Given the description of an element on the screen output the (x, y) to click on. 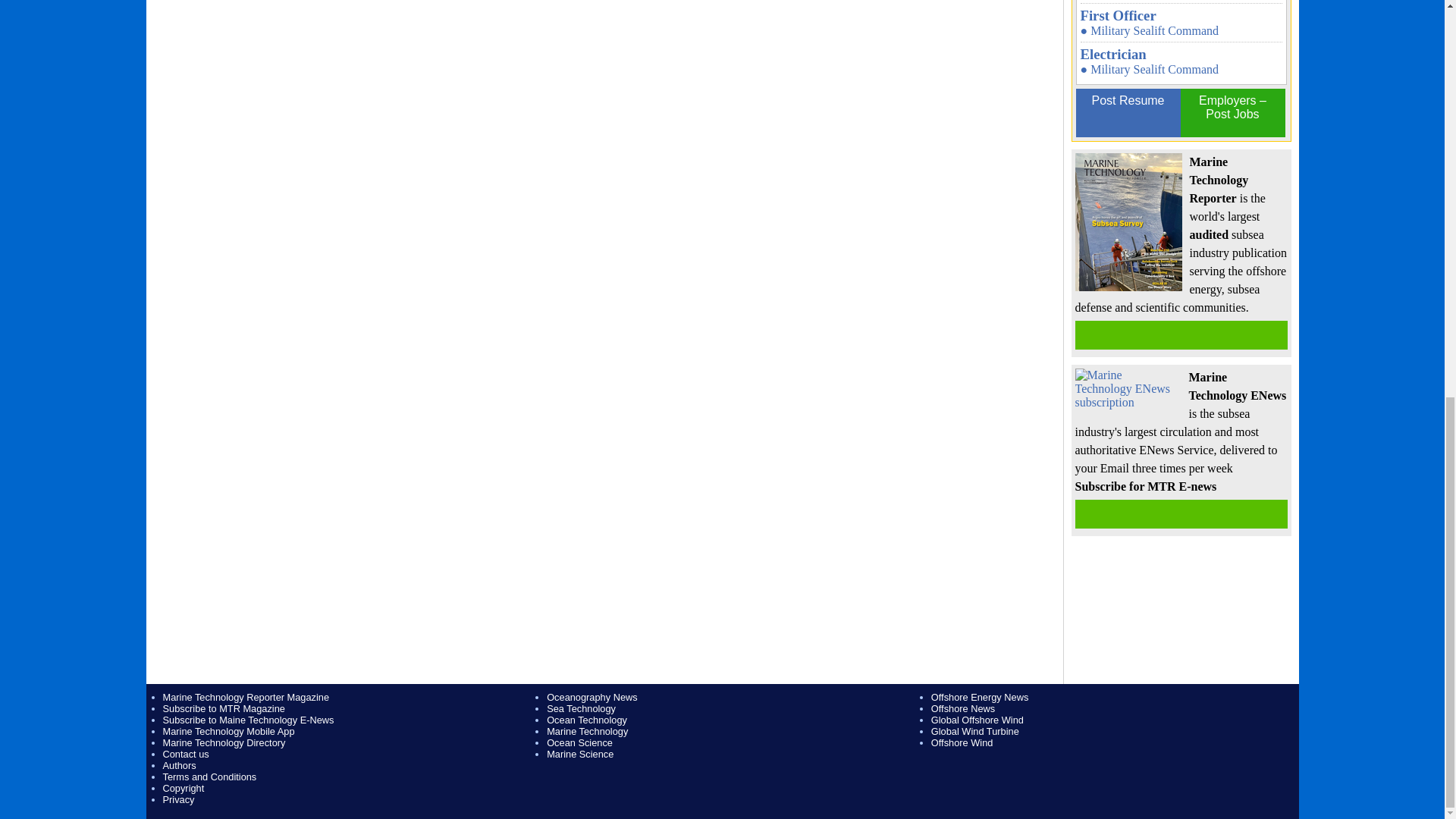
Offshore News (962, 708)
Marine Technology Directory (223, 742)
Subscribe (1181, 513)
Terms and Conditions (208, 776)
Marine Technology Mobile App (227, 731)
Subscribe (1181, 513)
Marine Technology Directory (223, 742)
Marine Technology Reporter magazine subscription (1181, 335)
Subscribe (1181, 335)
Global Offshore Wind (977, 719)
Marine Technology Reporter Magazine (245, 696)
Marine Technology Mobile App (227, 731)
Subscribe to MTR Magazine (222, 708)
Global Wind Turbine (975, 731)
Marine Technology Reporter Magazine (245, 696)
